Given the description of an element on the screen output the (x, y) to click on. 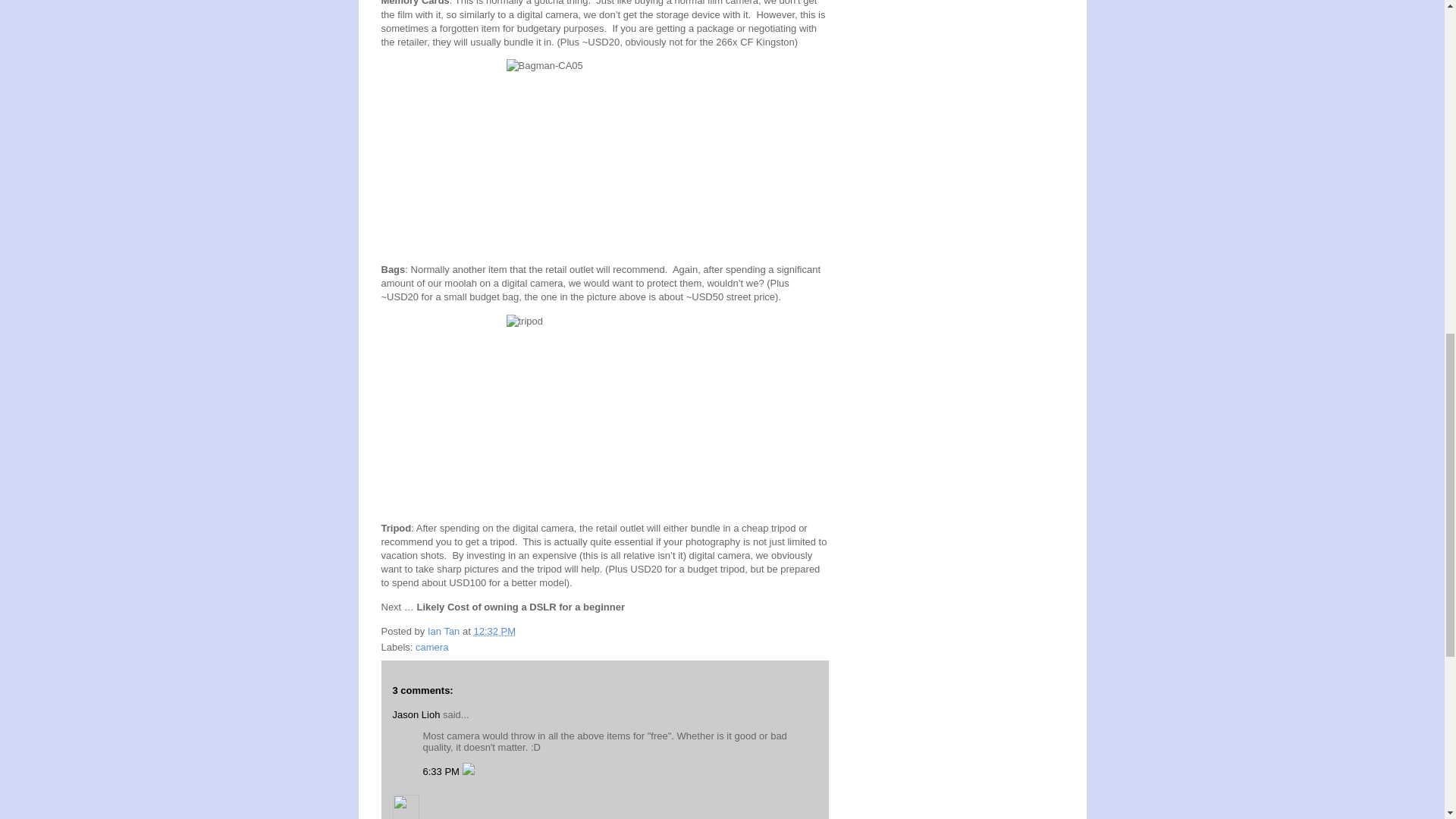
tripod (604, 412)
Jason Lioh (417, 714)
kuanhoong (406, 806)
author profile (445, 631)
12:32 PM (494, 631)
permanent link (494, 631)
camera (431, 646)
Ian Tan (445, 631)
6:33 PM (443, 771)
Delete Comment (468, 771)
Bagman-CA05 (604, 155)
comment permalink (443, 771)
